Given the description of an element on the screen output the (x, y) to click on. 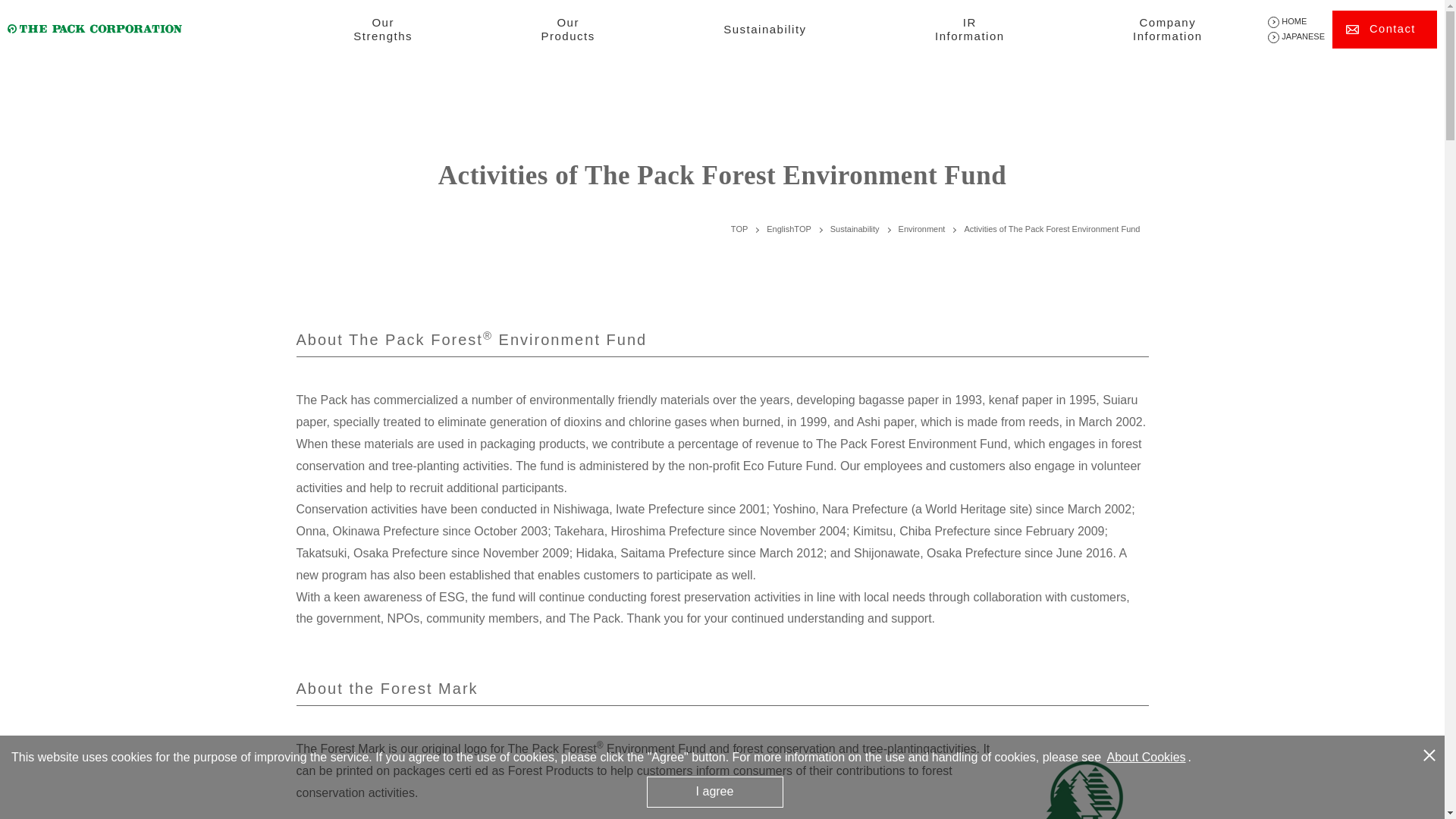
Sustainability (854, 228)
Sustainability (764, 29)
Environment (1167, 33)
HOME (568, 33)
TOP (921, 228)
Contact (1296, 21)
JAPANESE (739, 228)
EnglishTOP (382, 33)
